Given the description of an element on the screen output the (x, y) to click on. 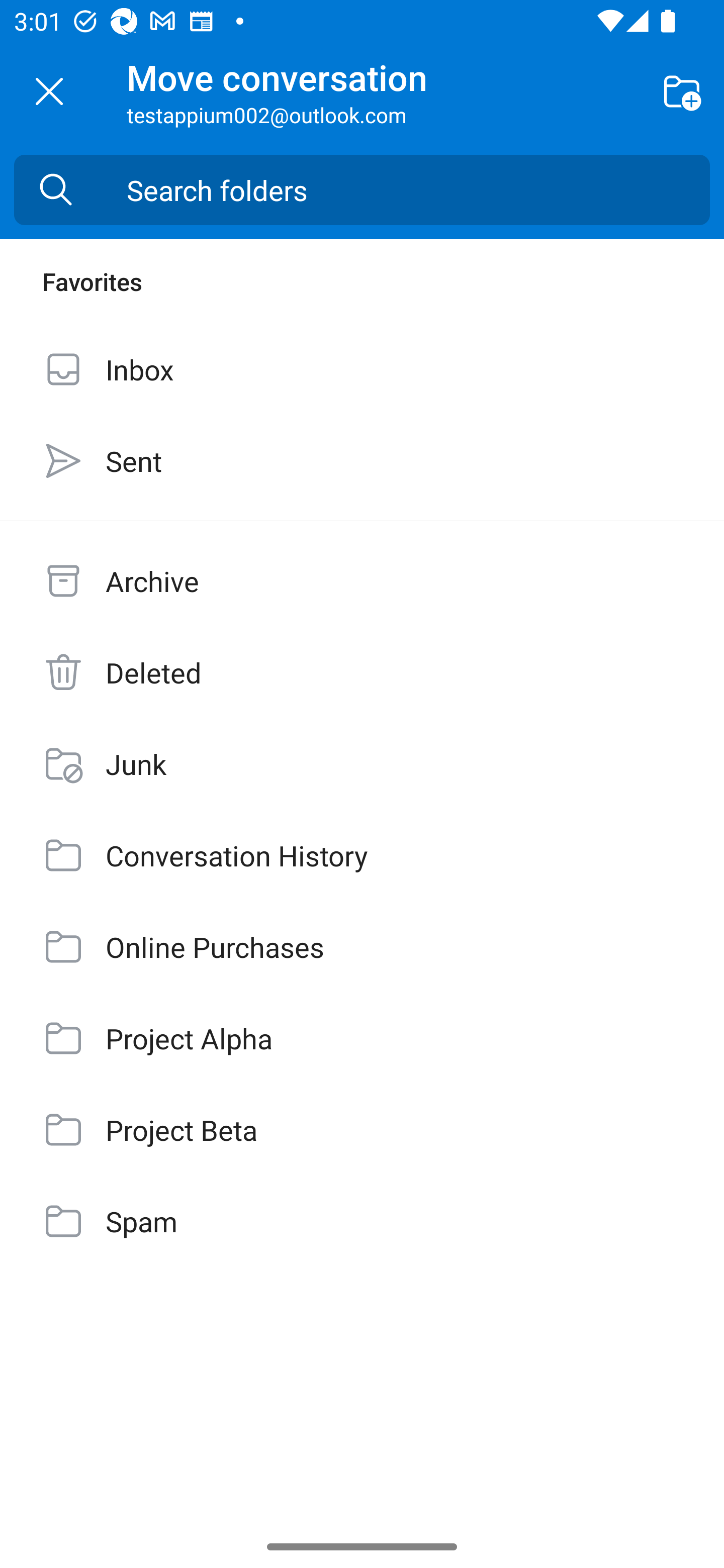
Move conversation, Cancel (49, 91)
Create new folder (681, 90)
Search folders (418, 190)
Inbox (362, 369)
Sent (362, 460)
Archive (362, 580)
Deleted (362, 672)
Junk (362, 763)
Conversation History (362, 855)
Online Purchases (362, 946)
Project Alpha (362, 1037)
Project Beta (362, 1129)
Spam (362, 1221)
